Given the description of an element on the screen output the (x, y) to click on. 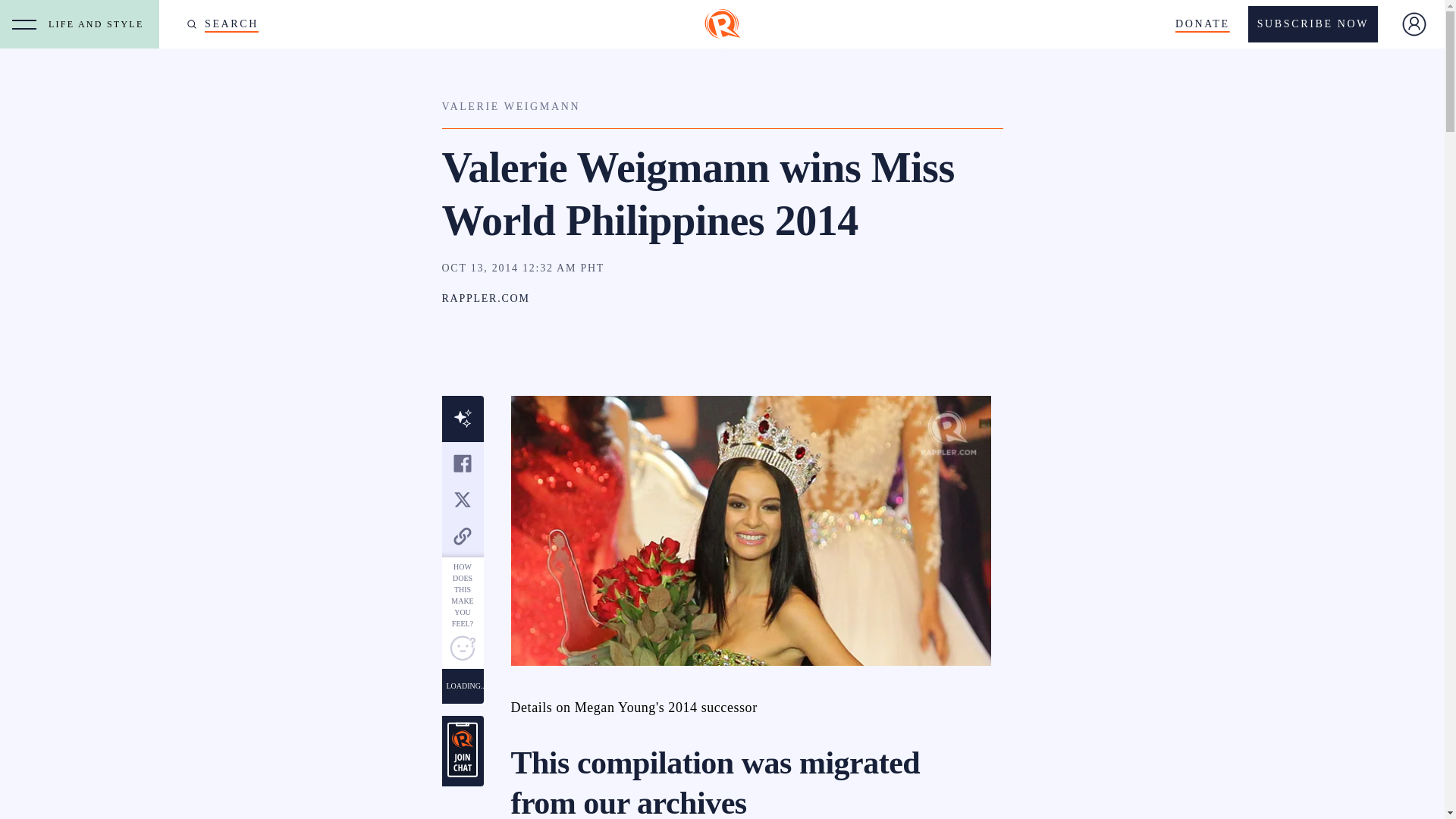
LIFE AND STYLE (99, 23)
OPEN NAVIGATION (24, 24)
